Given the description of an element on the screen output the (x, y) to click on. 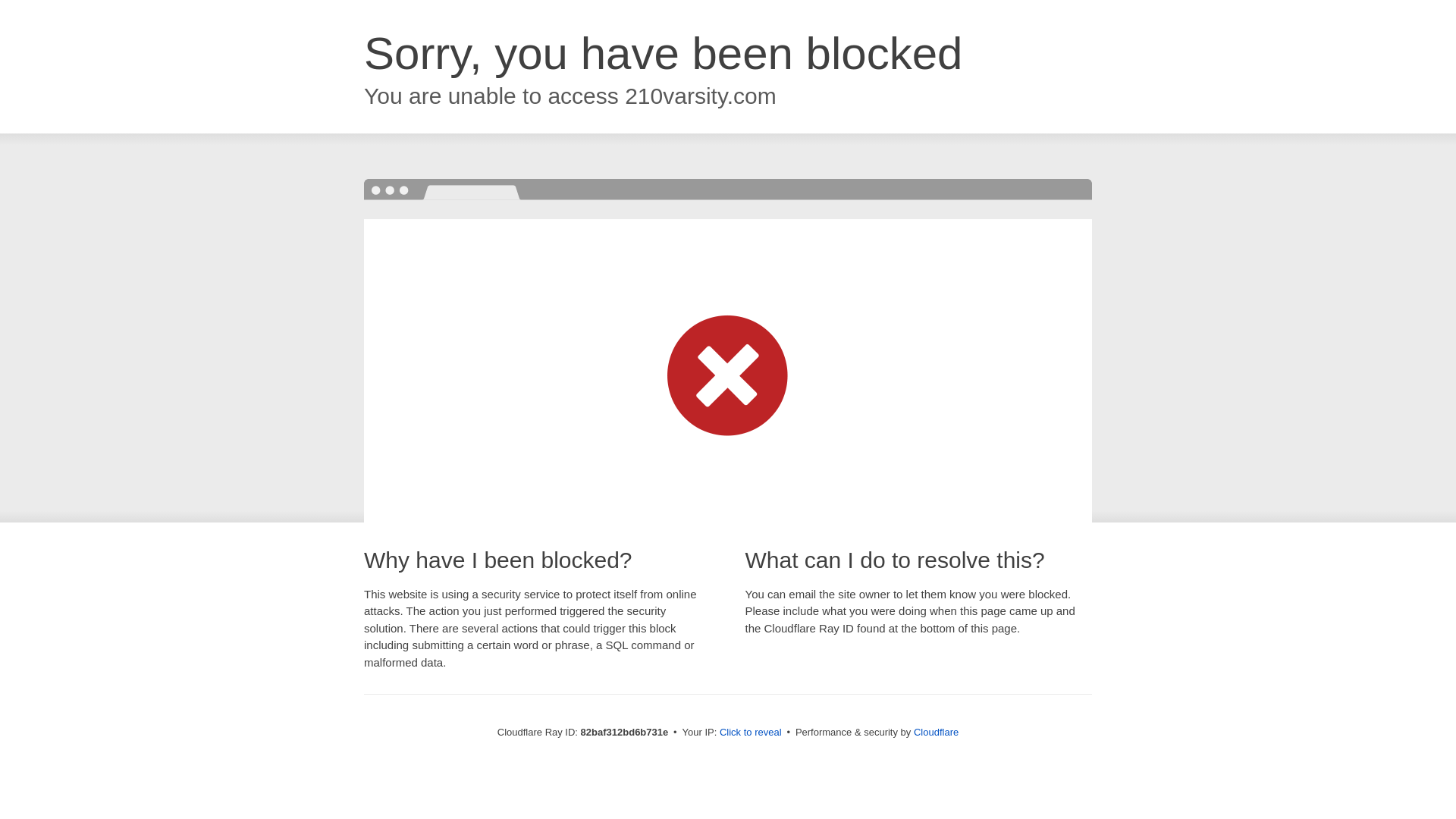
Click to reveal Element type: text (750, 732)
Cloudflare Element type: text (935, 731)
